Given the description of an element on the screen output the (x, y) to click on. 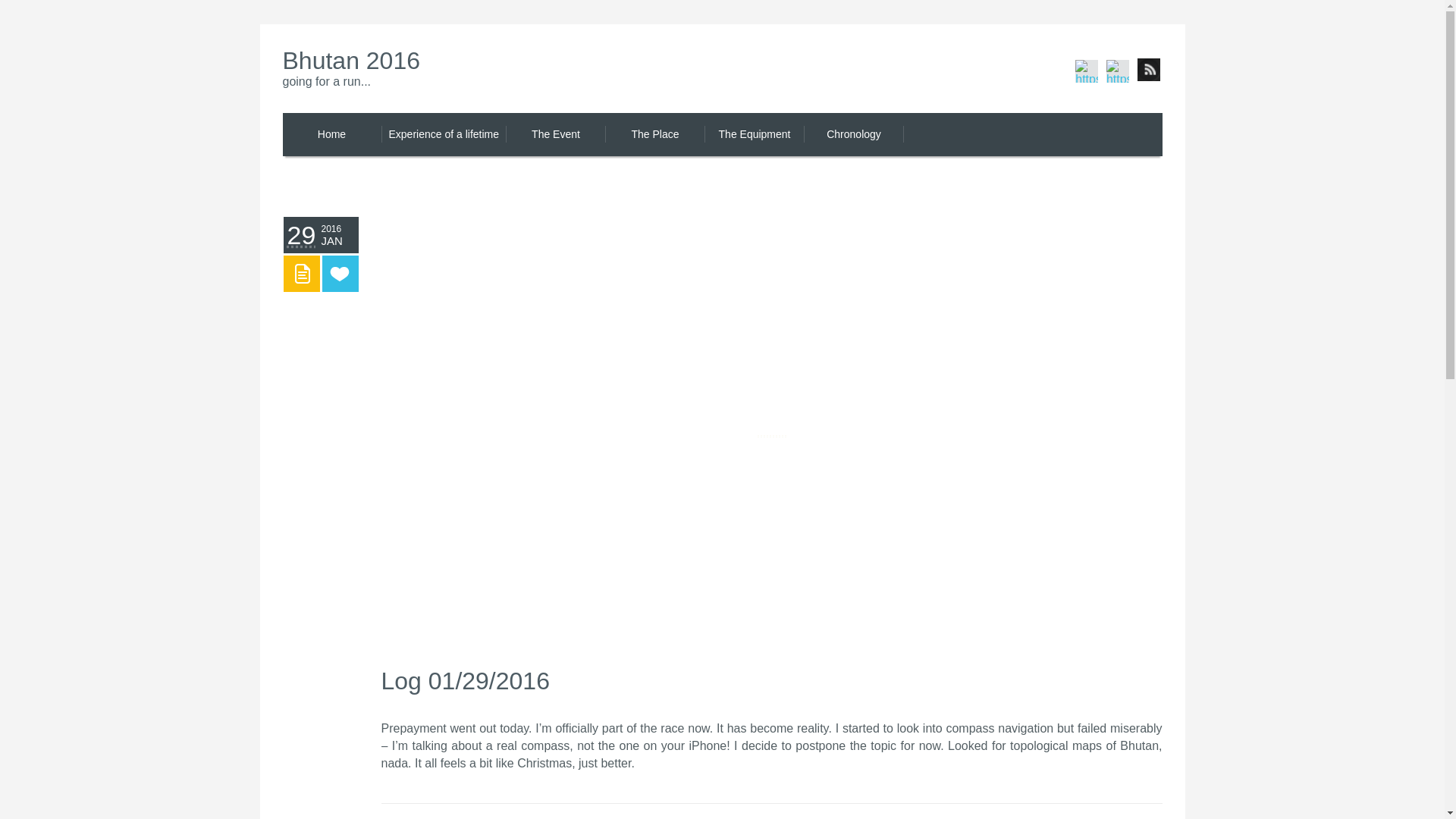
Home (331, 134)
The Equipment (754, 134)
Bhutan 2016 (464, 69)
The Event (555, 134)
Experience of a lifetime (443, 134)
January 29, 2016 (320, 235)
Chronology (853, 134)
The Place (654, 134)
